Given the description of an element on the screen output the (x, y) to click on. 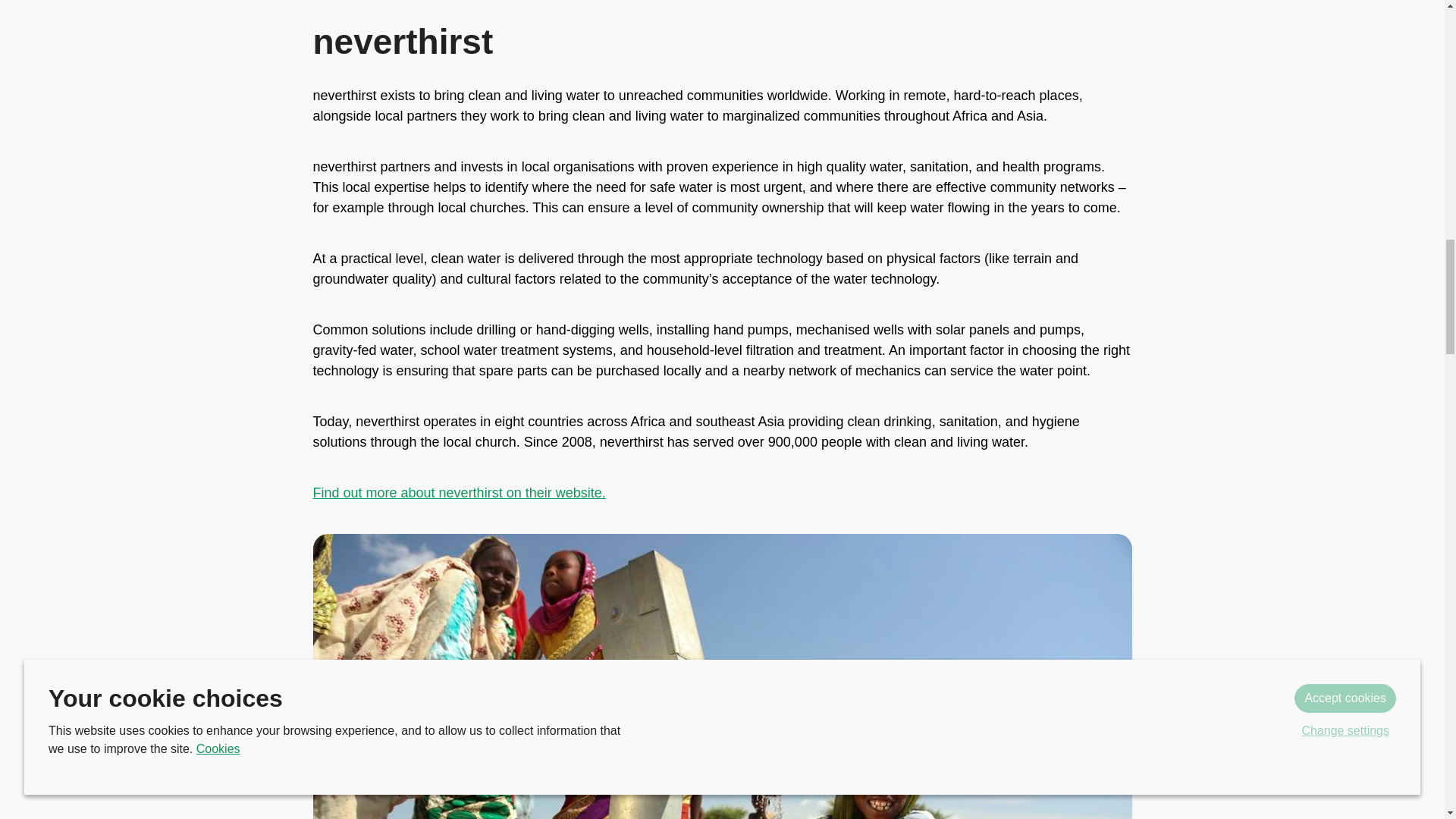
Find out more about neverthirst on their website. (459, 492)
